Given the description of an element on the screen output the (x, y) to click on. 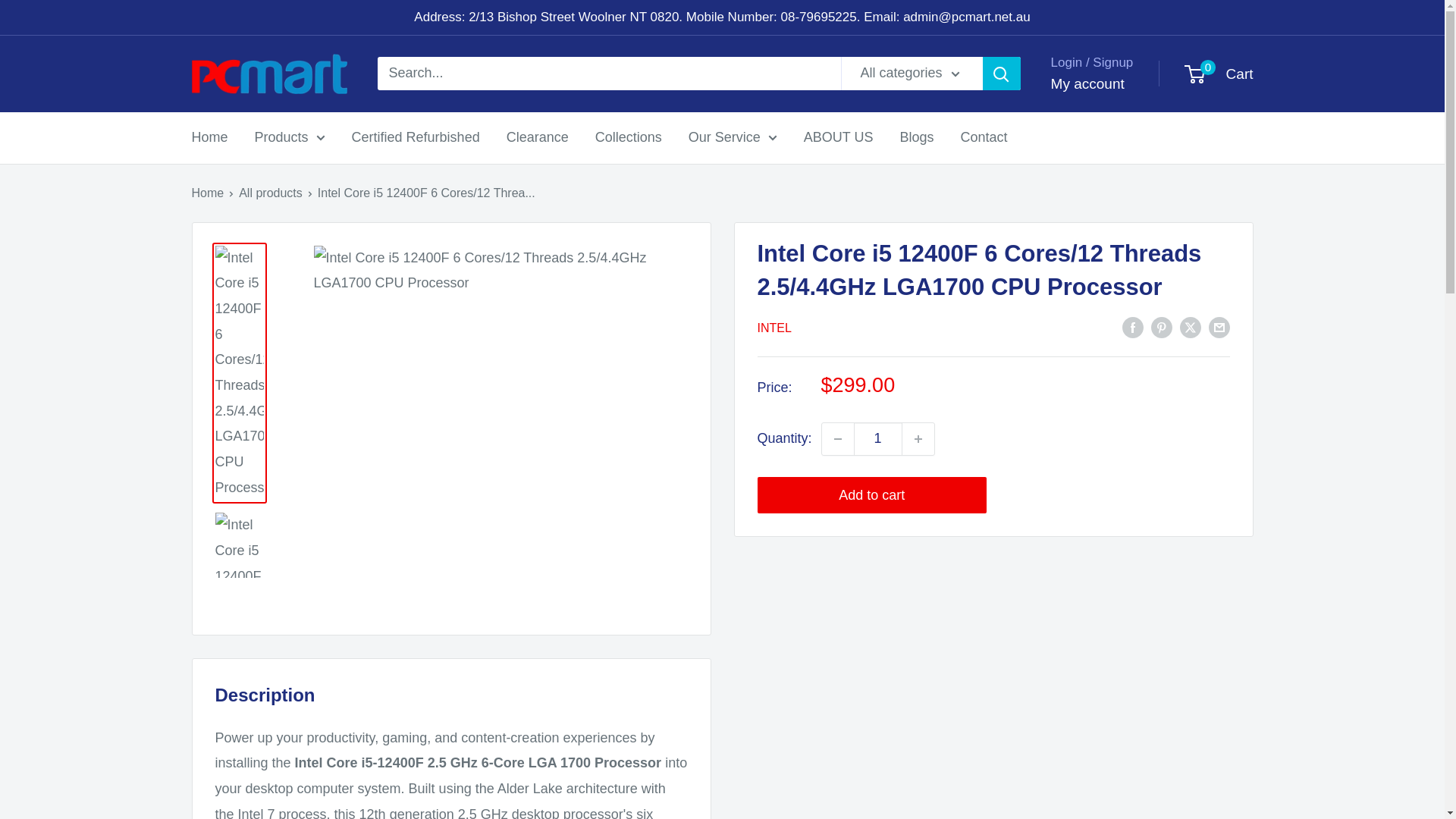
Increase quantity by 1 (918, 439)
1 (877, 439)
Decrease quantity by 1 (837, 439)
